Given the description of an element on the screen output the (x, y) to click on. 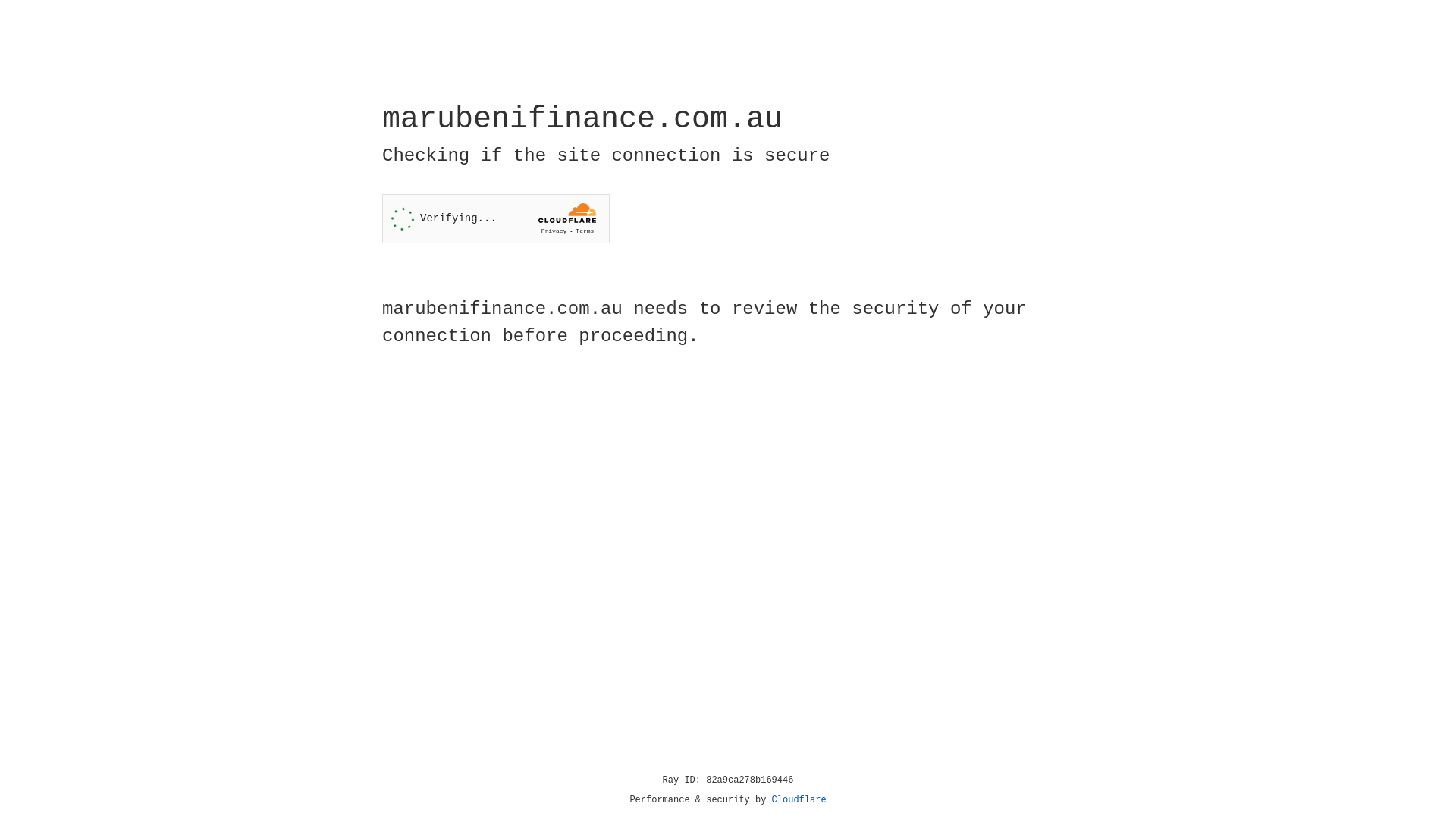
Cloudflare Element type: text (798, 799)
Widget containing a Cloudflare security challenge Element type: hover (495, 218)
